Given the description of an element on the screen output the (x, y) to click on. 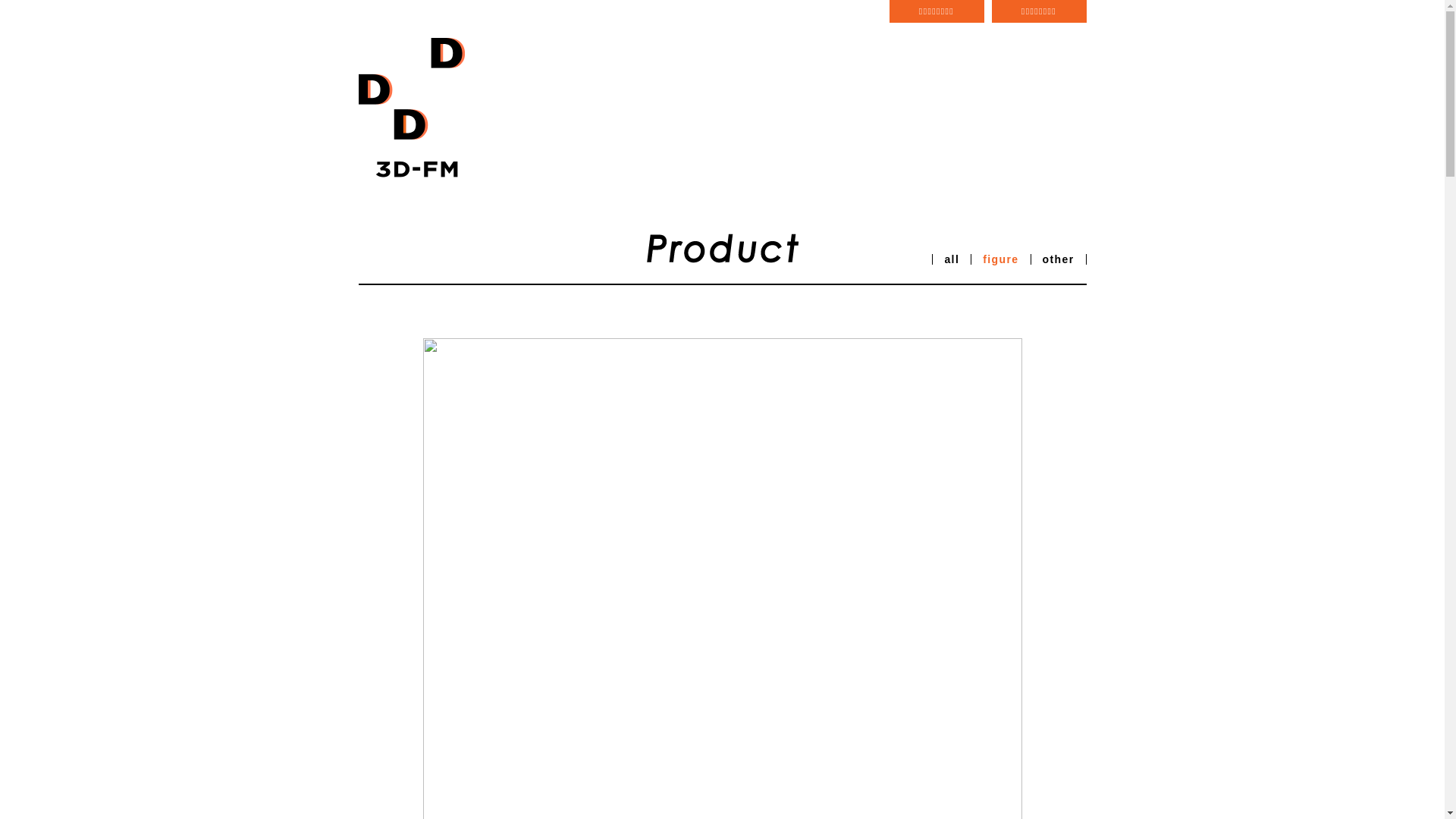
Product Element type: text (619, 100)
figure Element type: text (1000, 259)
all Element type: text (951, 259)
Flow Element type: text (685, 100)
About Element type: text (803, 100)
Blog Element type: text (996, 100)
Price Element type: text (742, 100)
News Element type: text (550, 100)
other Element type: text (1057, 259)
FAQ Element type: text (863, 100)
Contact Element type: text (930, 100)
